Given the description of an element on the screen output the (x, y) to click on. 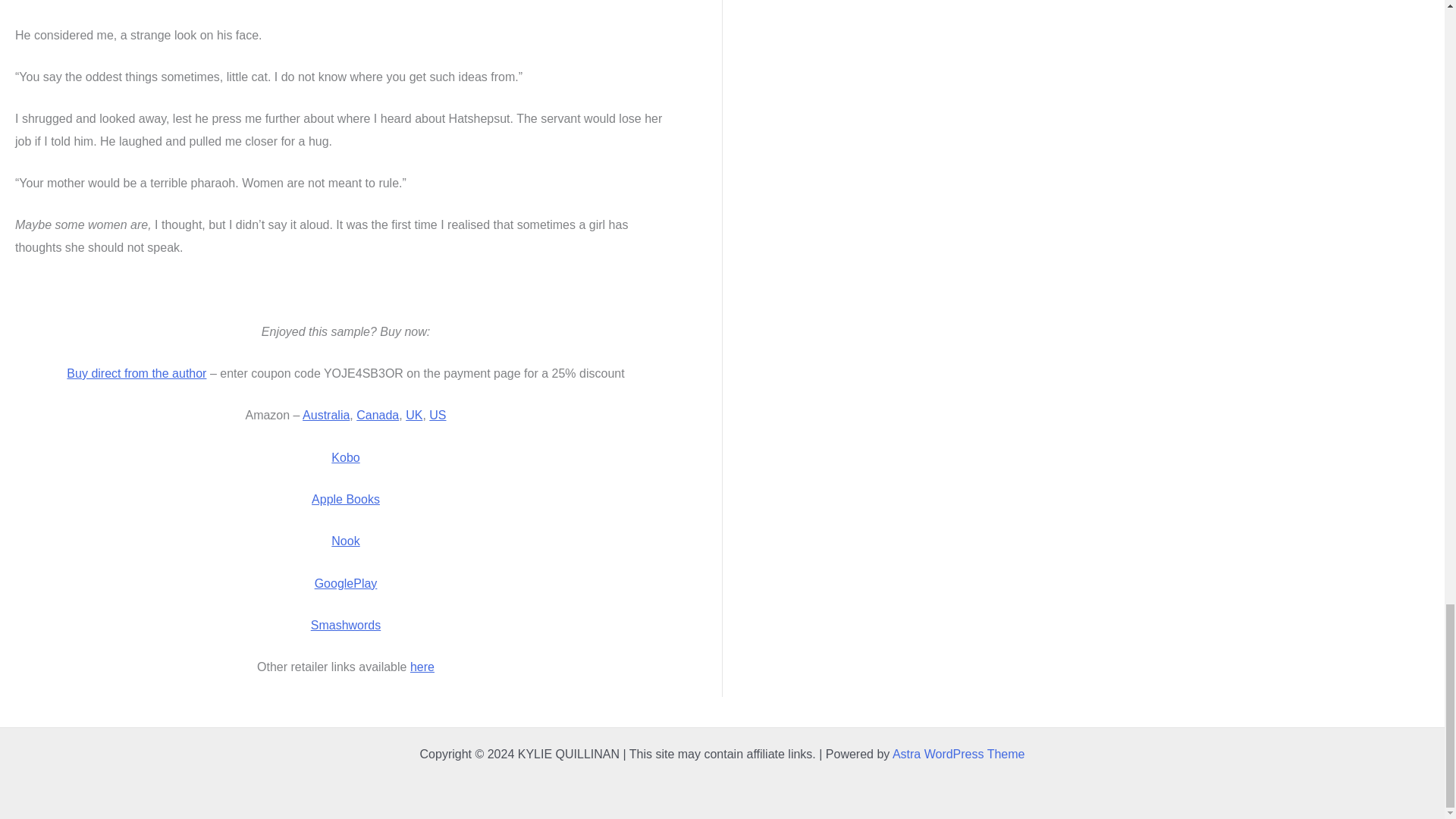
UK (414, 414)
Astra WordPress Theme (958, 753)
here (421, 666)
US (437, 414)
Smashwords (345, 625)
Canada (377, 414)
Apple Books (345, 499)
Nook (345, 540)
Australia (325, 414)
Kobo (345, 457)
